Given the description of an element on the screen output the (x, y) to click on. 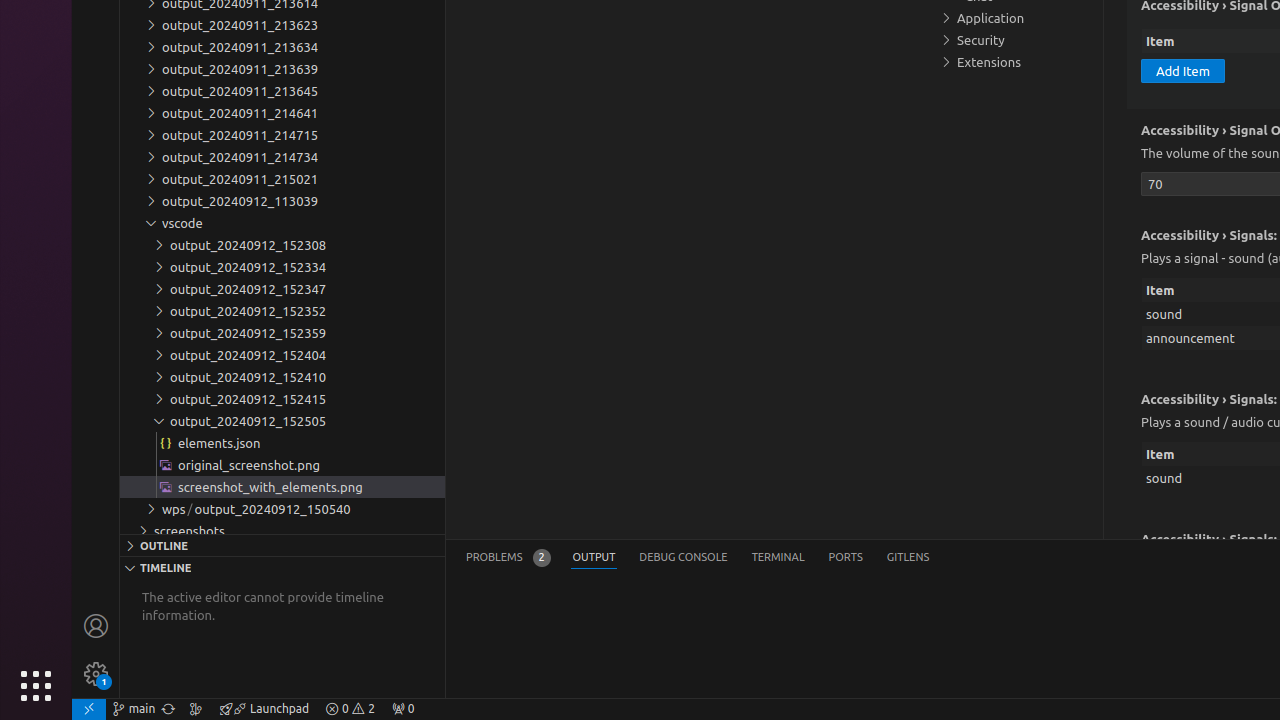
Terminal (Ctrl+`) Element type: page-tab (778, 557)
output_20240911_214715 Element type: tree-item (282, 135)
remote Element type: push-button (89, 709)
Timeline Section Element type: push-button (282, 567)
output_20240911_215021 Element type: tree-item (282, 179)
